Given the description of an element on the screen output the (x, y) to click on. 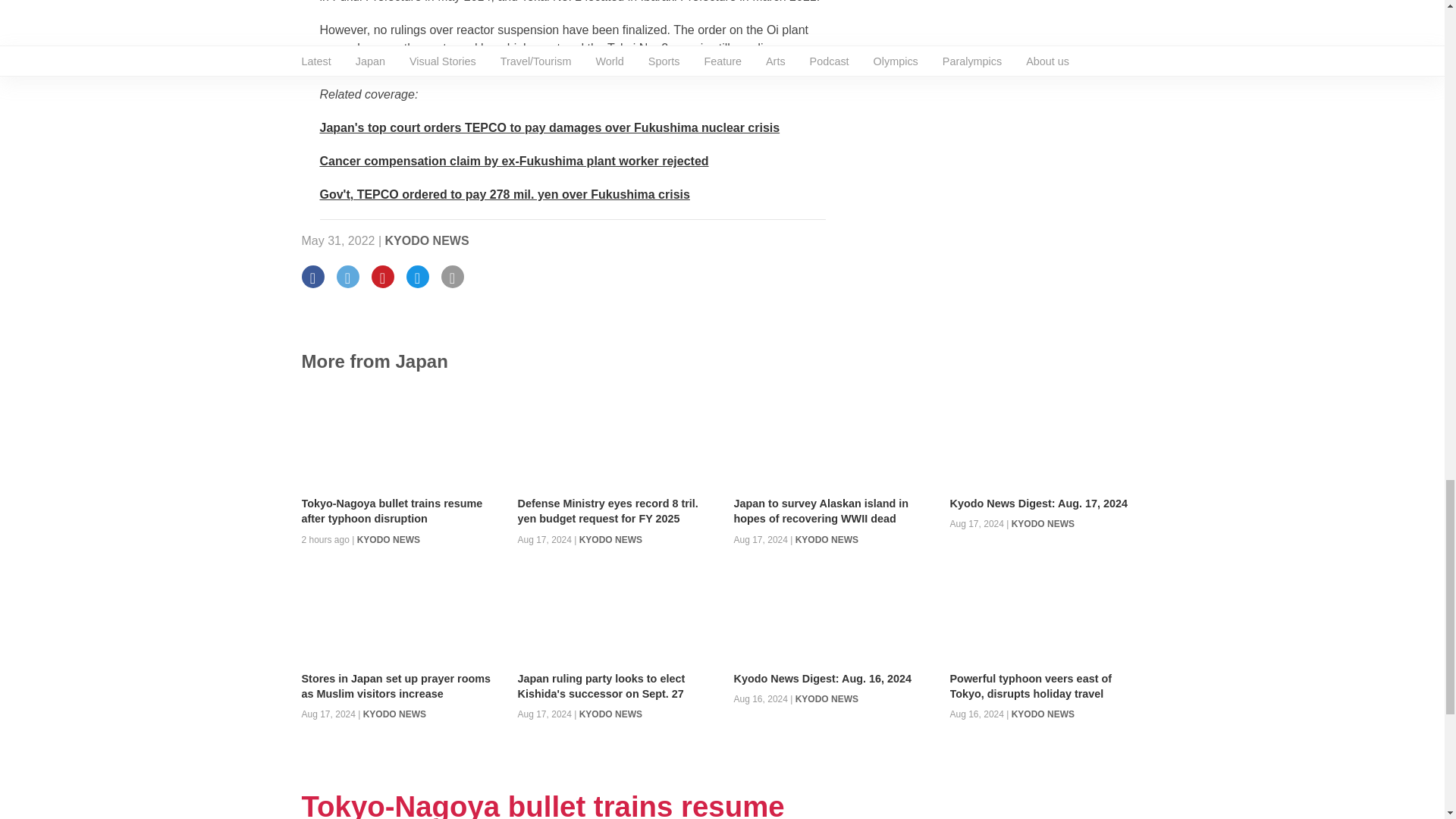
KYODO NEWS (426, 240)
Kyodo News Plus (514, 160)
Kyodo News Plus (550, 127)
Kyodo News Plus (505, 194)
